Given the description of an element on the screen output the (x, y) to click on. 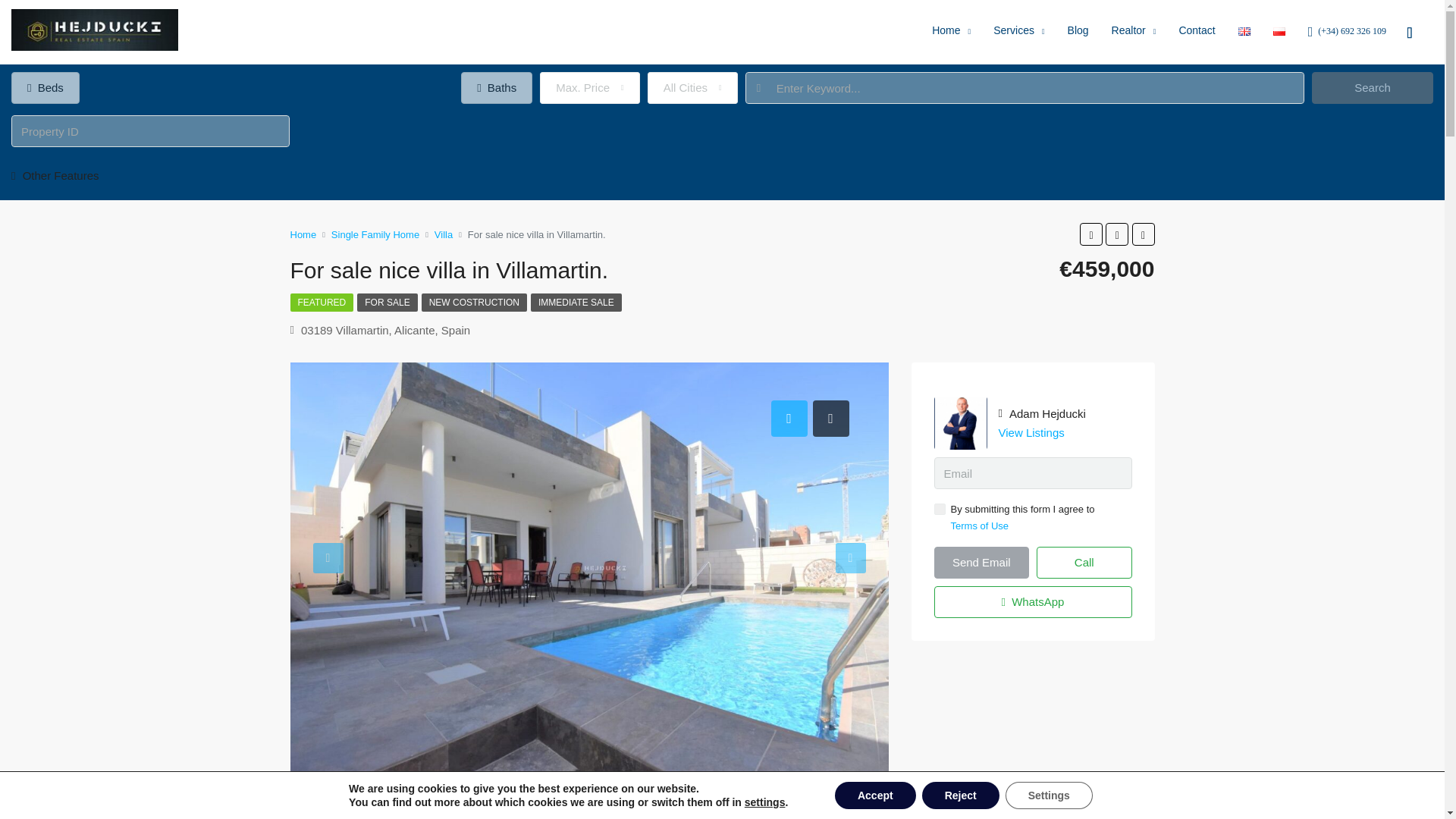
Contact (1196, 32)
Home (950, 33)
Services (1018, 33)
All Cities (692, 88)
Realtor (1133, 33)
Max. Price (590, 88)
